Given the description of an element on the screen output the (x, y) to click on. 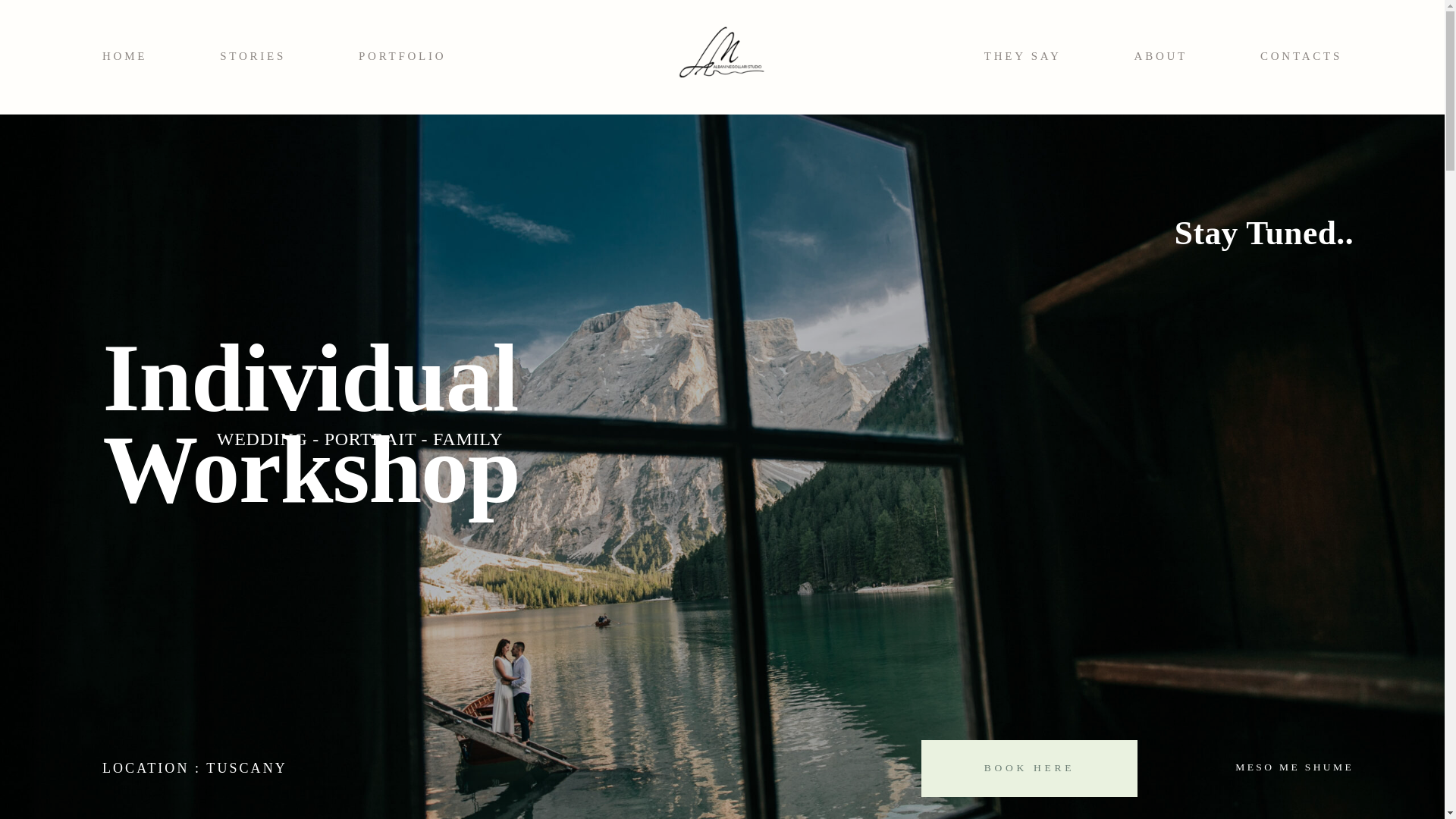
ABOUT (1161, 57)
THEY SAY (1022, 57)
STORIES (252, 57)
BOOK HERE (1029, 768)
CONTACTS (1301, 57)
HOME (124, 57)
PORTFOLIO (401, 57)
